Given the description of an element on the screen output the (x, y) to click on. 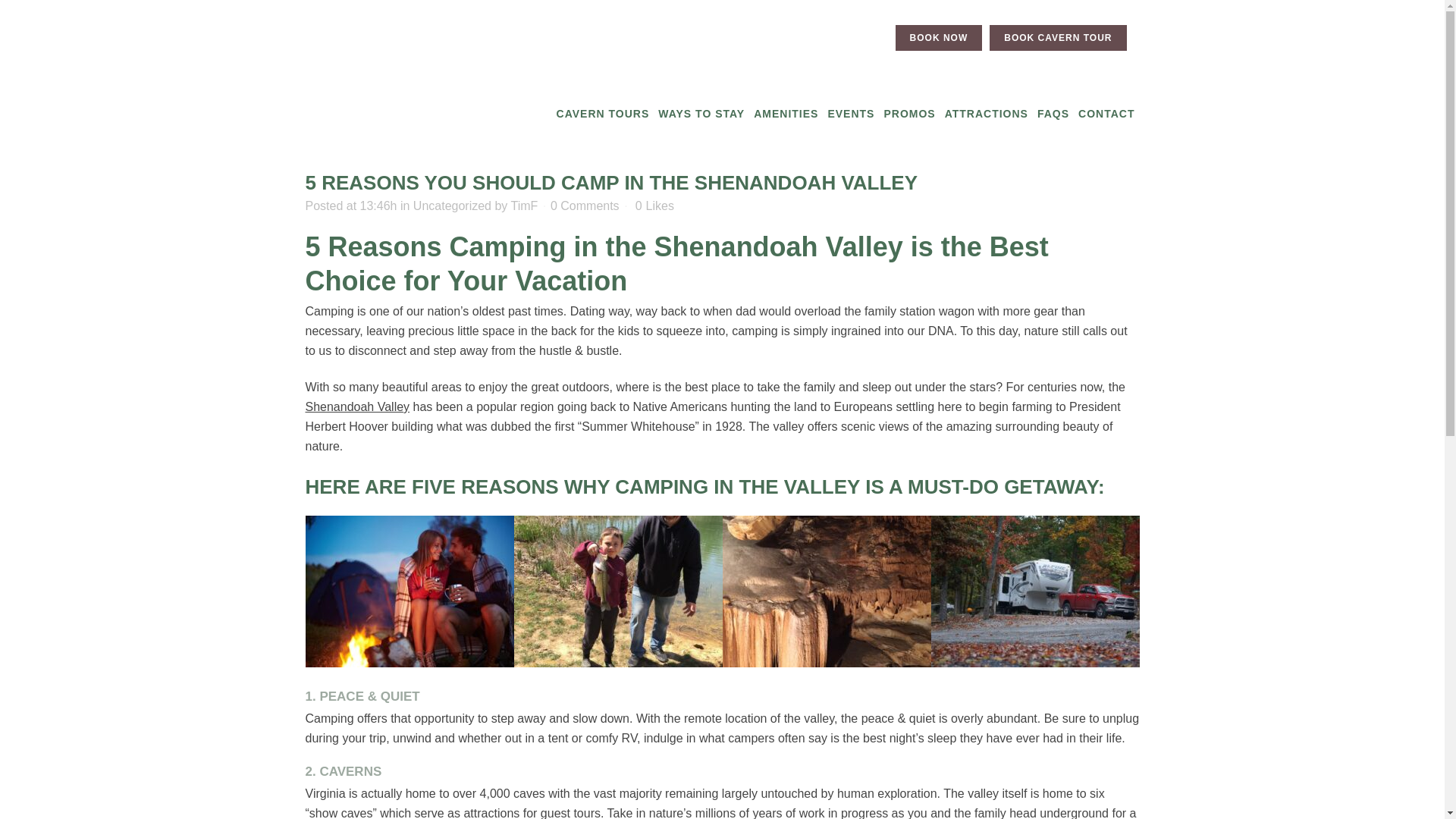
CAVERN TOURS (602, 113)
ATTRACTIONS (986, 113)
Like this (654, 205)
WAYS TO STAY (701, 113)
BOOK CAVERN TOUR (1057, 37)
BOOK NOW (938, 37)
AMENITIES (785, 113)
